Given the description of an element on the screen output the (x, y) to click on. 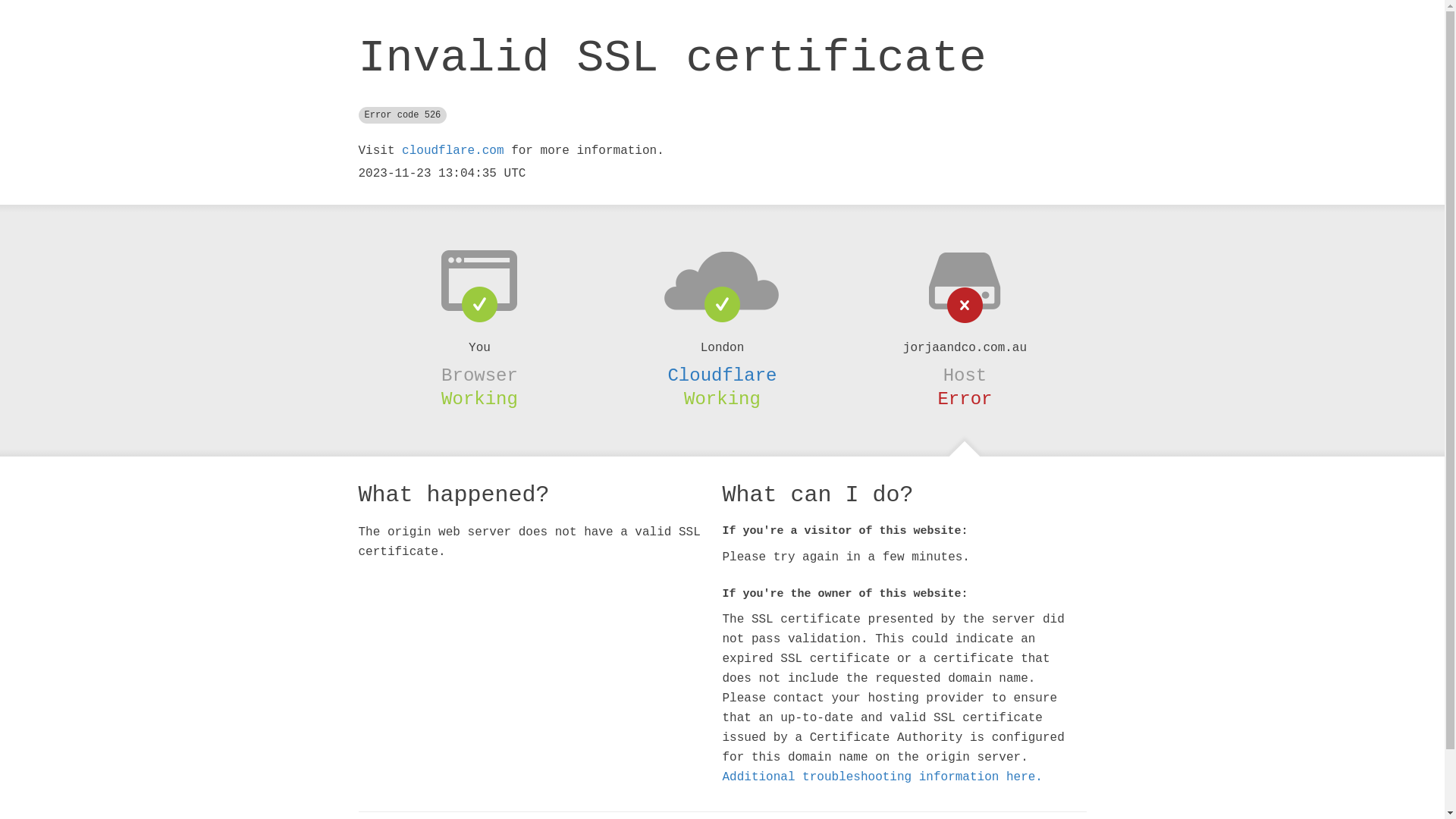
Additional troubleshooting information here. Element type: text (881, 777)
Cloudflare Element type: text (721, 375)
cloudflare.com Element type: text (452, 150)
